Given the description of an element on the screen output the (x, y) to click on. 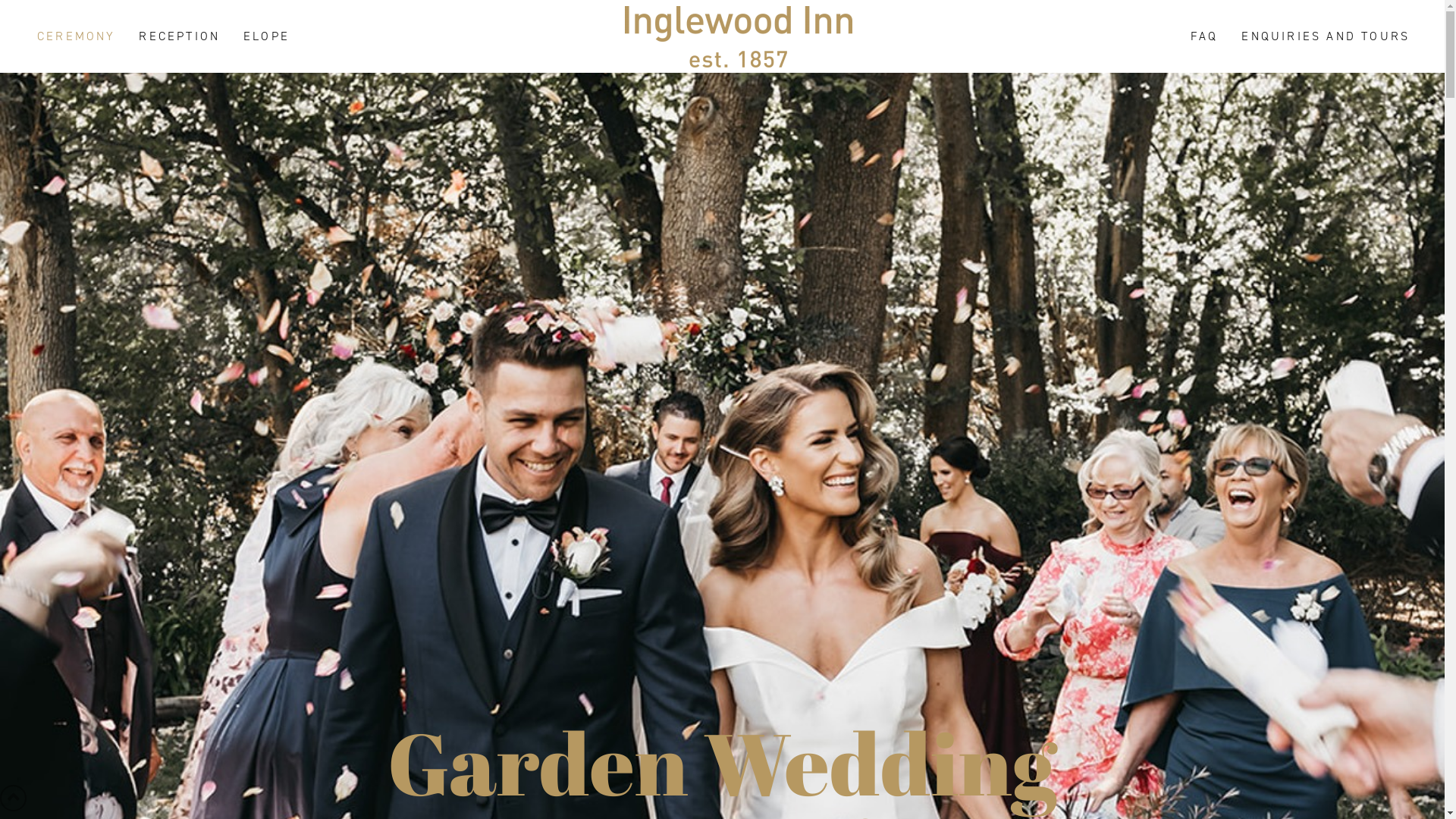
ENQUIRIES AND TOURS Element type: text (1324, 36)
ELOPE Element type: text (265, 36)
CEREMONY Element type: text (74, 36)
FAQ Element type: text (1202, 36)
Back to Top Element type: hover (13, 797)
RECEPTION Element type: text (177, 36)
